Given the description of an element on the screen output the (x, y) to click on. 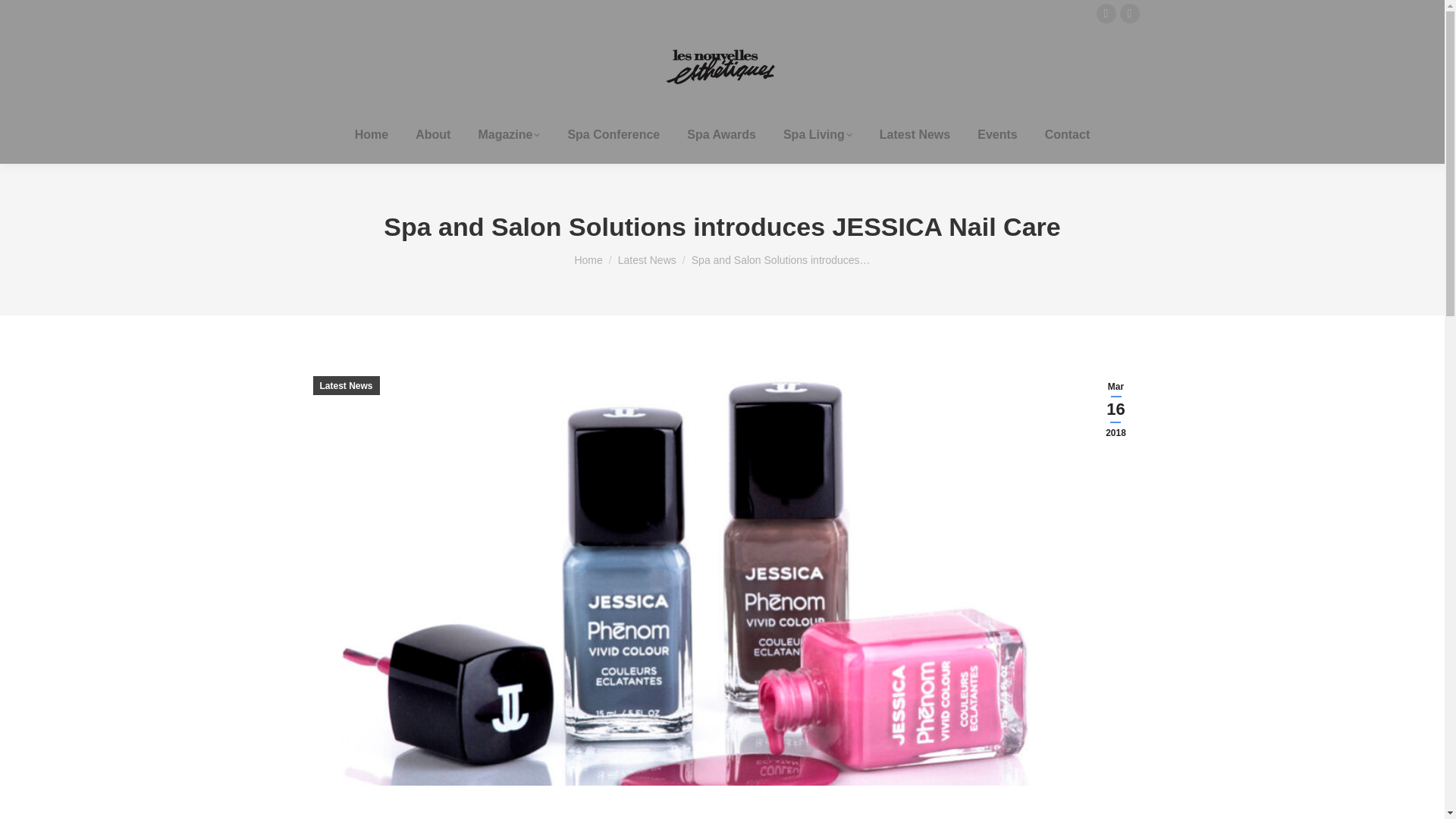
Latest News (647, 259)
Home (371, 134)
About (432, 134)
Spa Conference (613, 134)
Facebook page opens in new window (1128, 13)
Spa Living (818, 134)
Instagram page opens in new window (1106, 13)
Events (997, 134)
Contact (1067, 134)
Latest News (914, 134)
